Given the description of an element on the screen output the (x, y) to click on. 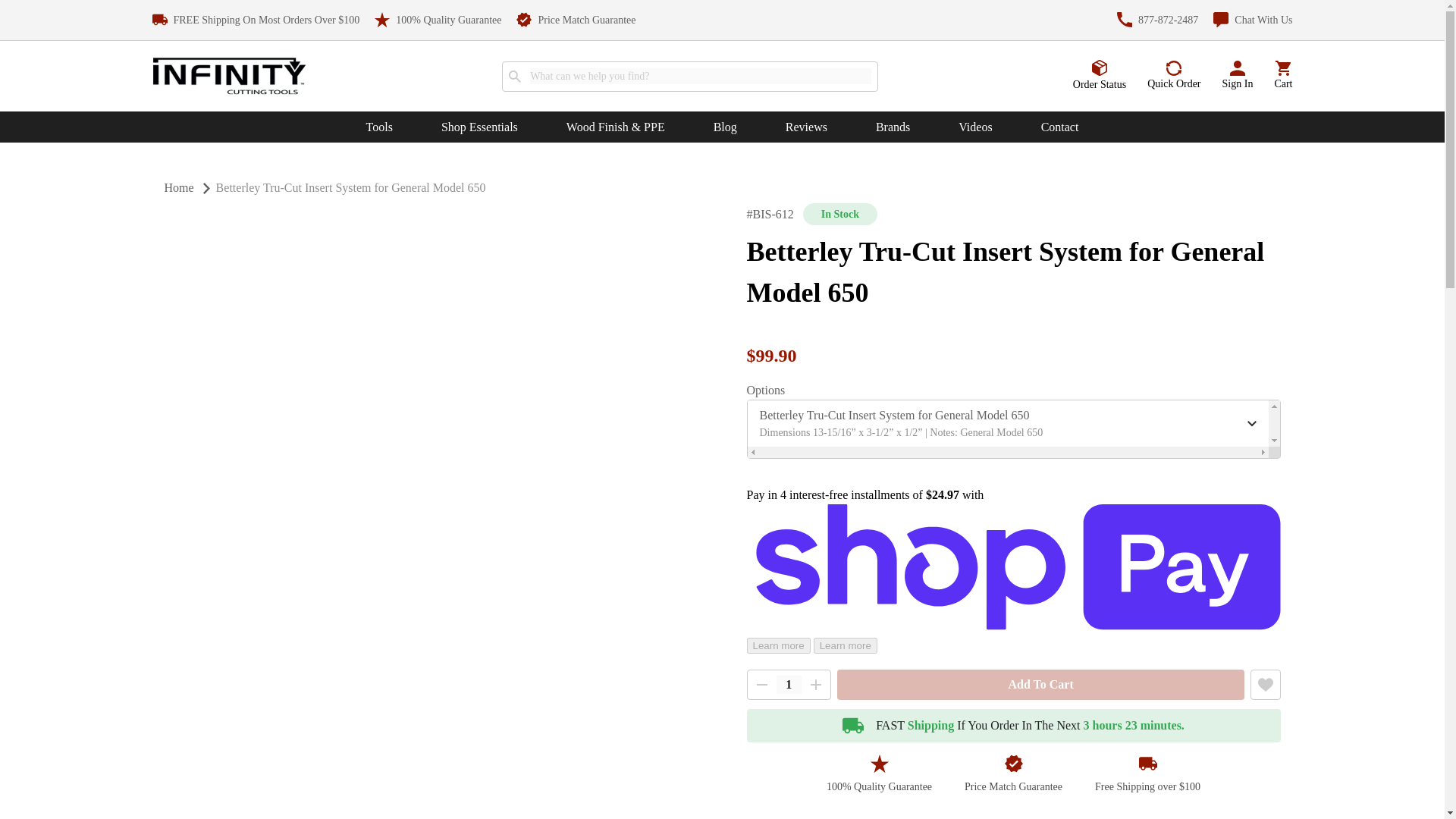
Sign In (1238, 75)
877-872-2487 (1157, 19)
Chat With Us (1252, 19)
Tools (379, 126)
Quick Order (1173, 75)
1 (789, 684)
Order Status (1099, 75)
